Given the description of an element on the screen output the (x, y) to click on. 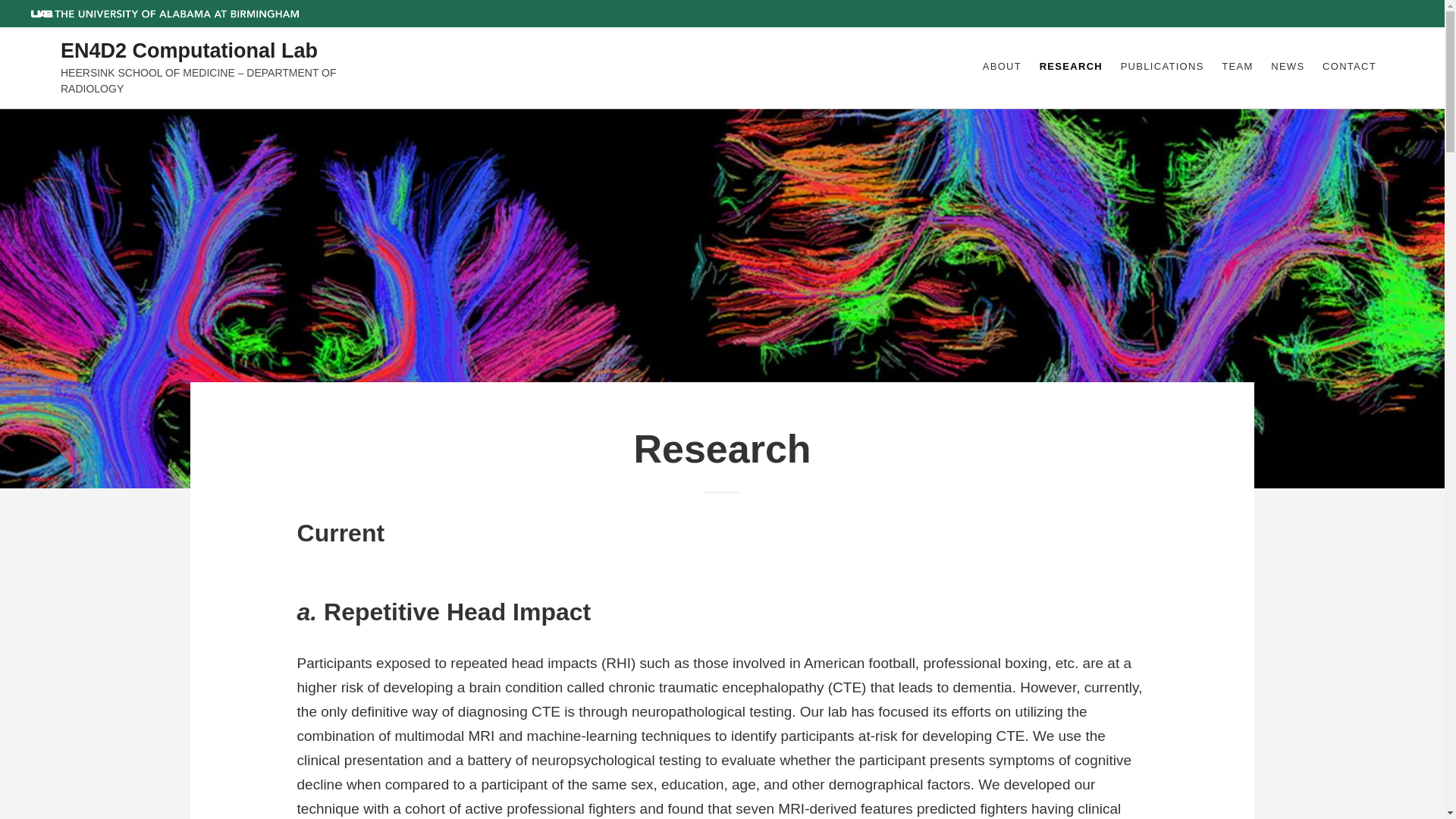
EN4D2 Computational Lab (189, 51)
RESEARCH (1070, 67)
PUBLICATIONS (1162, 67)
CONTACT (1348, 67)
ABOUT (1002, 67)
TEAM (1236, 67)
NEWS (1287, 67)
